Given the description of an element on the screen output the (x, y) to click on. 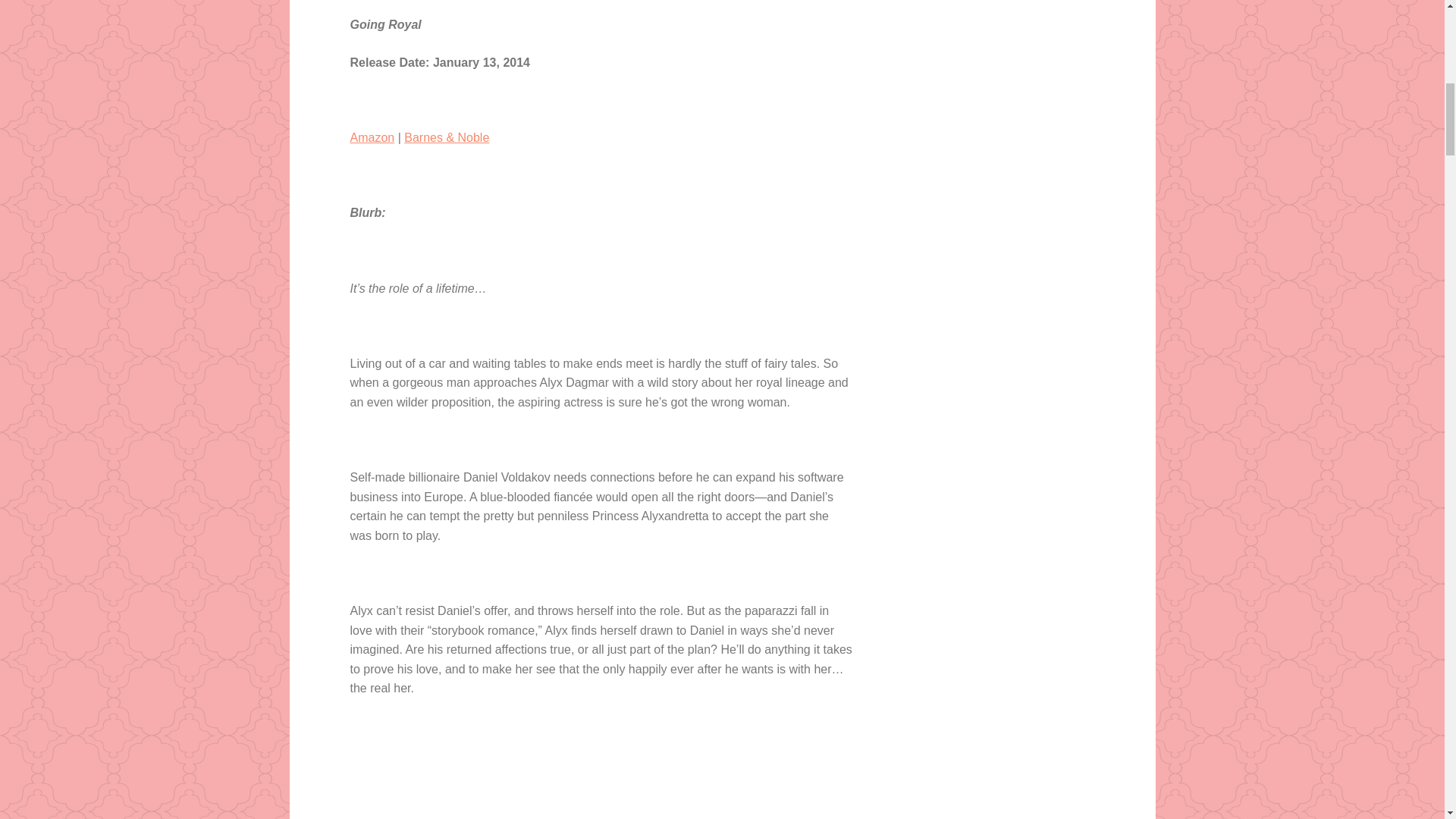
Amazon (372, 137)
